Given the description of an element on the screen output the (x, y) to click on. 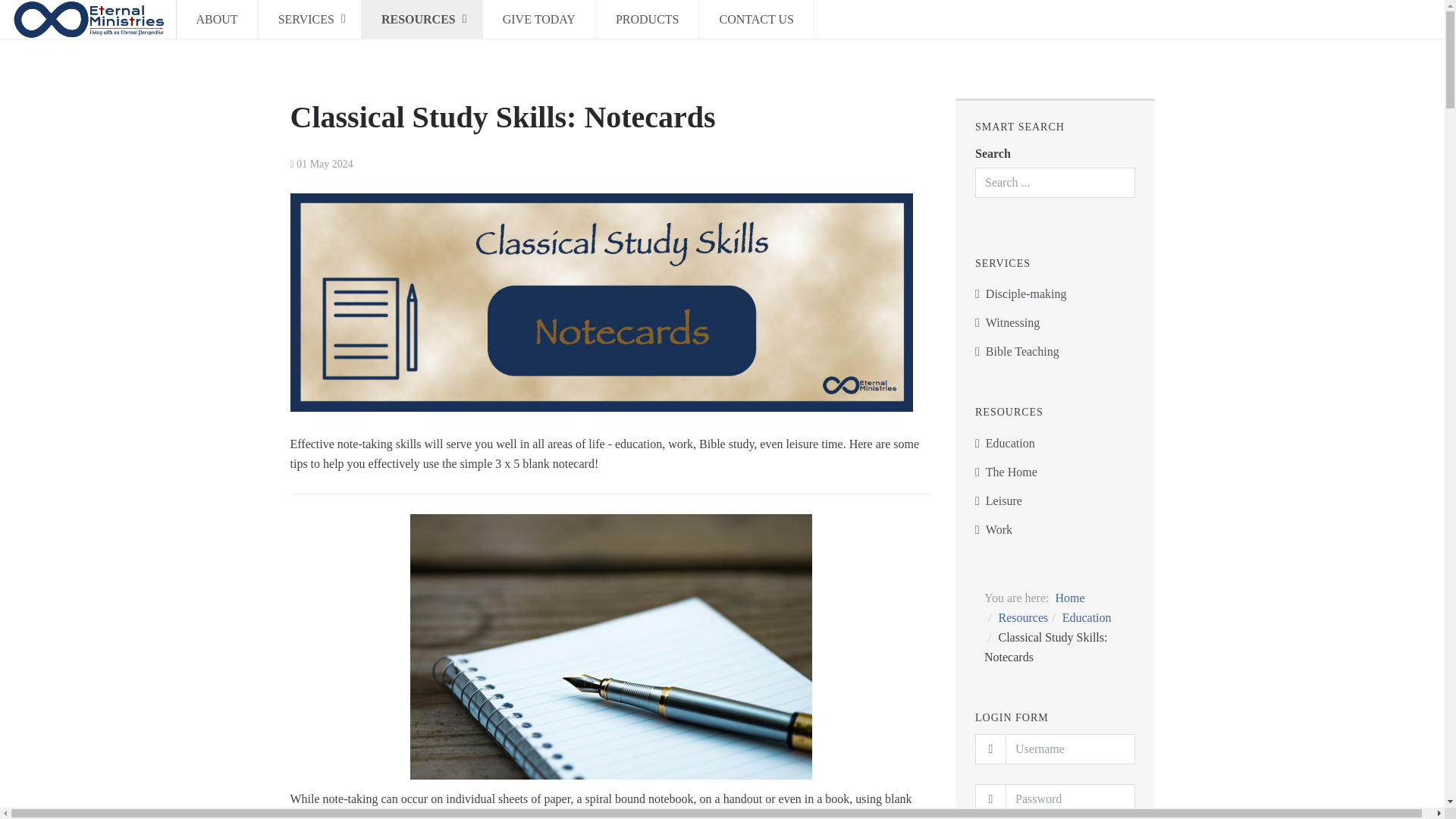
Eternal Ministries (87, 19)
CONTACT US (755, 19)
Back to Top (1405, 816)
Witnessing (1055, 322)
Education (1055, 443)
GIVE TODAY (539, 19)
The Home (1055, 471)
Classical Study Skills: Notecards (501, 116)
RESOURCES (421, 19)
Leisure (1055, 500)
